Given the description of an element on the screen output the (x, y) to click on. 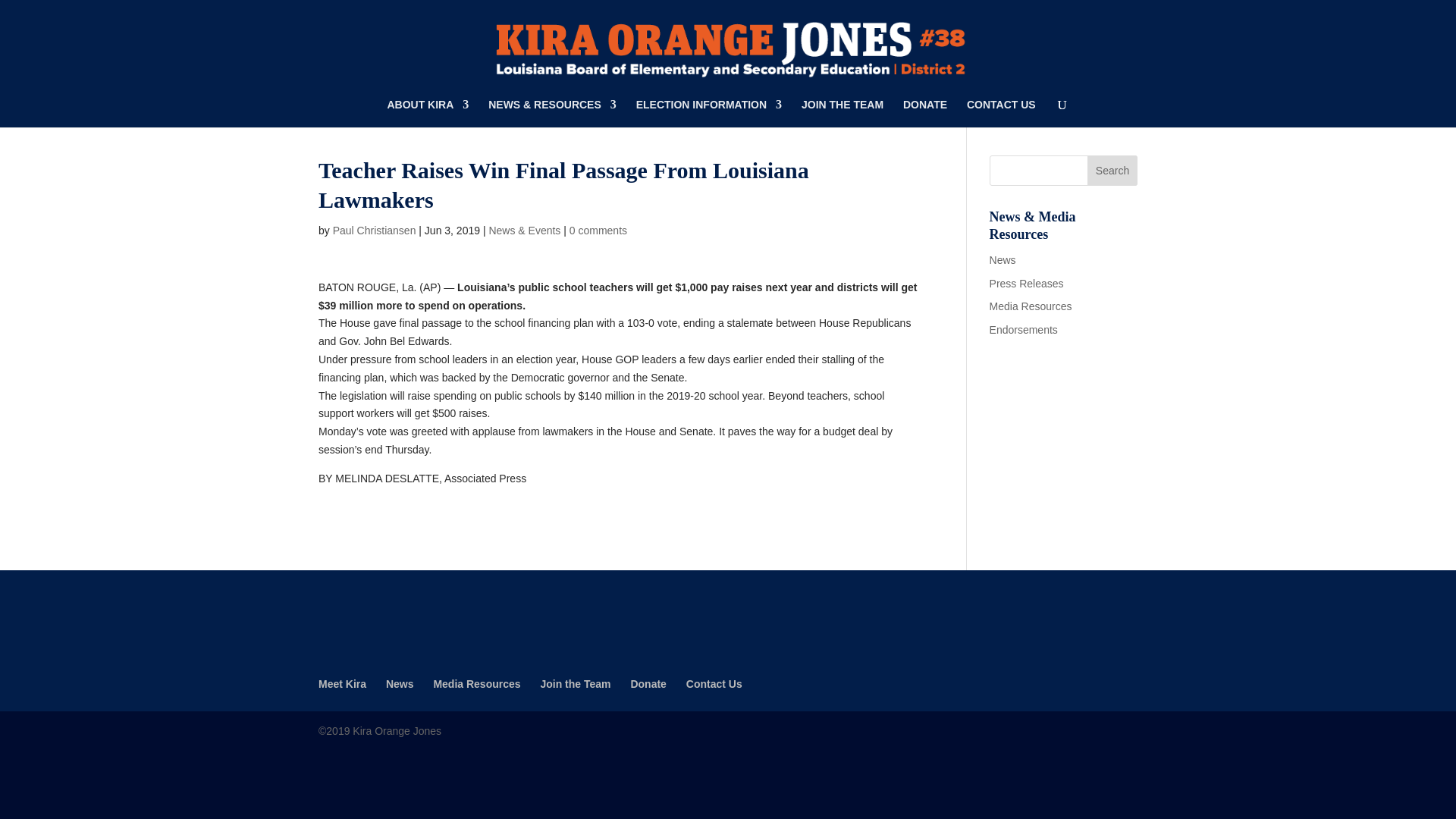
Press Releases (1027, 283)
Join the Team (575, 684)
Paul Christiansen (374, 230)
Media Resources (1030, 306)
News (1003, 259)
ABOUT KIRA (427, 113)
Contact Us (713, 684)
Posts by Paul Christiansen (374, 230)
JOIN THE TEAM (842, 113)
ELECTION INFORMATION (708, 113)
